Given the description of an element on the screen output the (x, y) to click on. 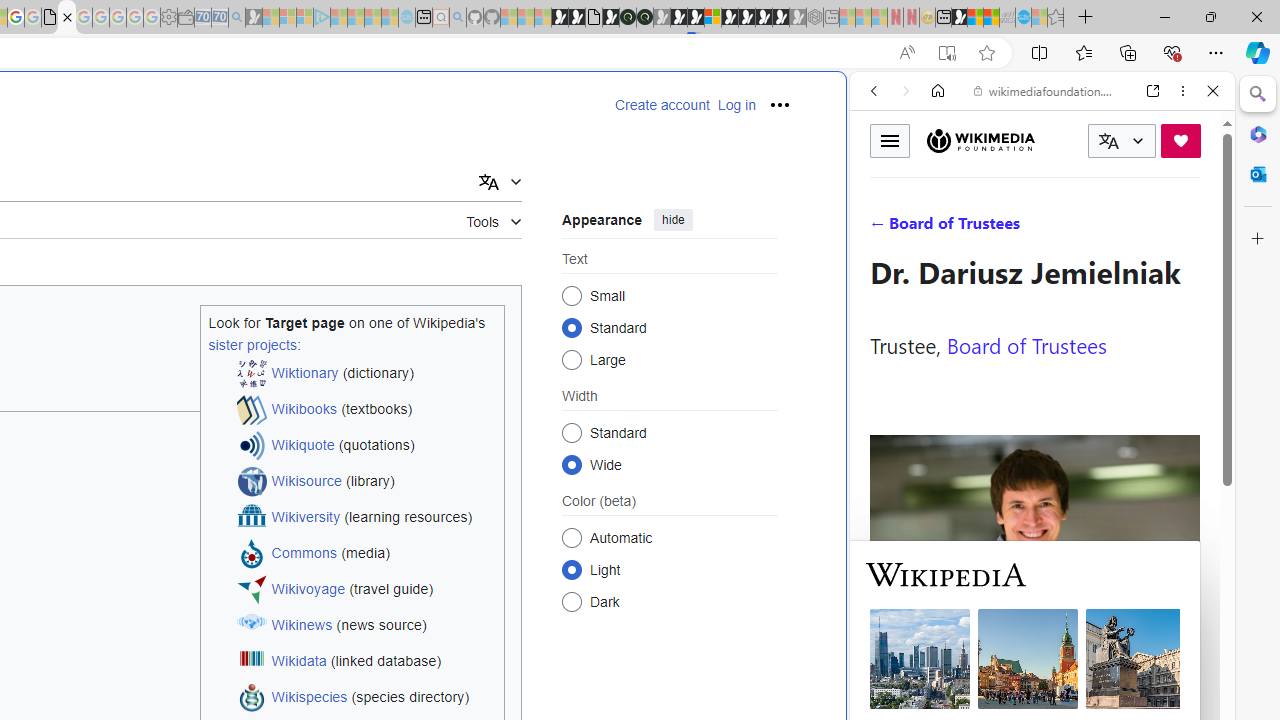
Search Filter, Search Tools (1093, 228)
Settings - Sleeping (168, 17)
Search Filter, VIDEOS (1006, 228)
Dark (571, 601)
Wikisource (306, 481)
Bing Real Estate - Home sales and rental listings - Sleeping (236, 17)
CURRENT LANGUAGE: (1121, 141)
New tab - Sleeping (831, 17)
Wikidata (298, 661)
Wikimedia Foundation (980, 141)
